Given the description of an element on the screen output the (x, y) to click on. 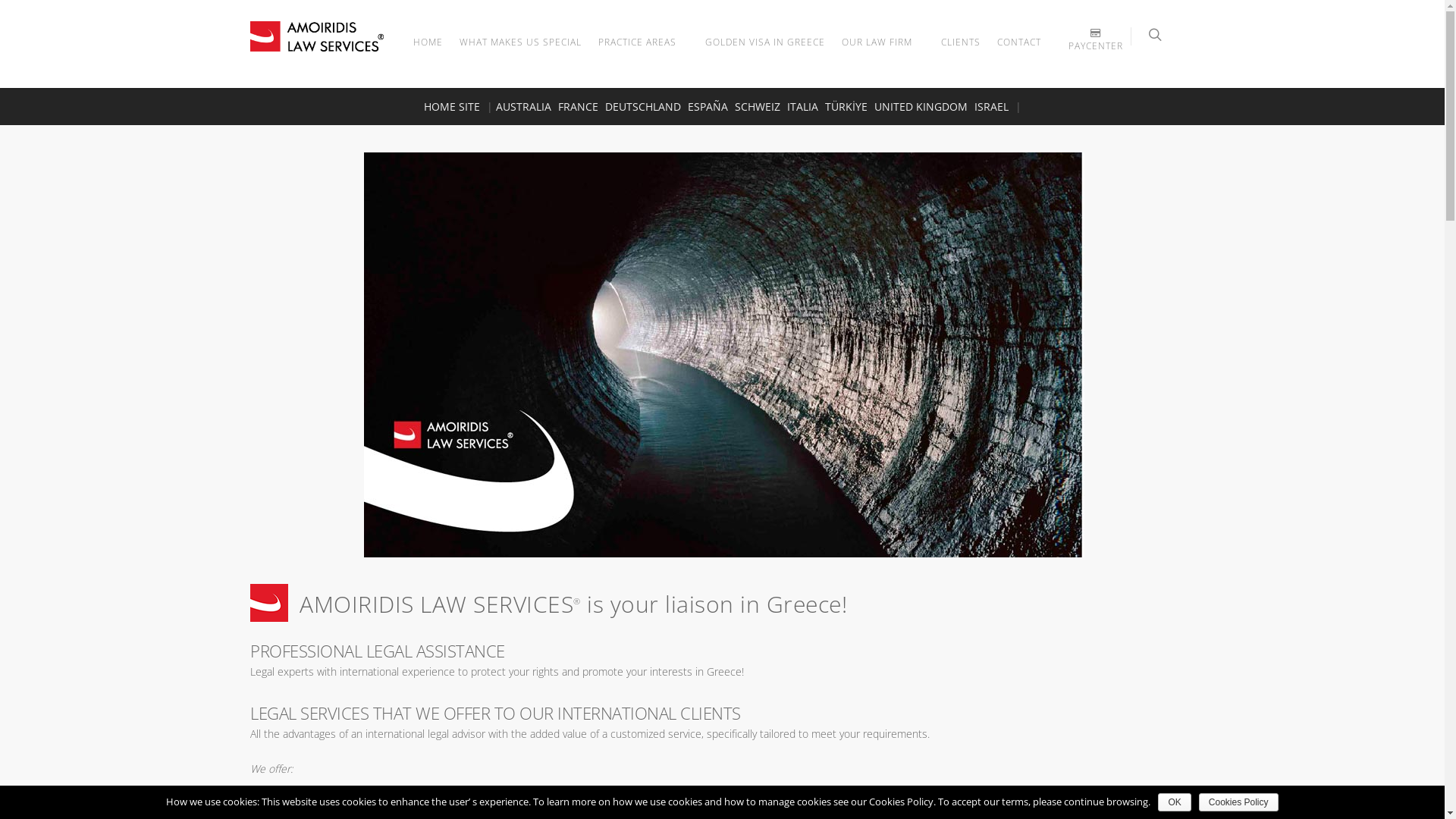
OK Element type: text (1173, 802)
HOME Element type: text (427, 53)
ISRAEL Element type: text (990, 106)
WHAT MAKES US SPECIAL Element type: text (520, 53)
CONTACT Element type: text (1018, 53)
ITALIA Element type: text (802, 106)
AUSTRALIA Element type: text (523, 106)
UNITED KINGDOM Element type: text (919, 106)
FRANCE Element type: text (578, 106)
SCHWEIZ Element type: text (756, 106)
OUR LAW FIRM Element type: text (882, 54)
Cookies Policy Element type: text (1238, 802)
CLIENTS Element type: text (960, 53)
DEUTSCHLAND Element type: text (642, 106)
PAYCENTER Element type: text (1095, 37)
(for more details, please click here) Element type: text (542, 803)
PRACTICE AREAS Element type: text (643, 54)
GOLDEN VISA IN GREECE Element type: text (764, 53)
